Given the description of an element on the screen output the (x, y) to click on. 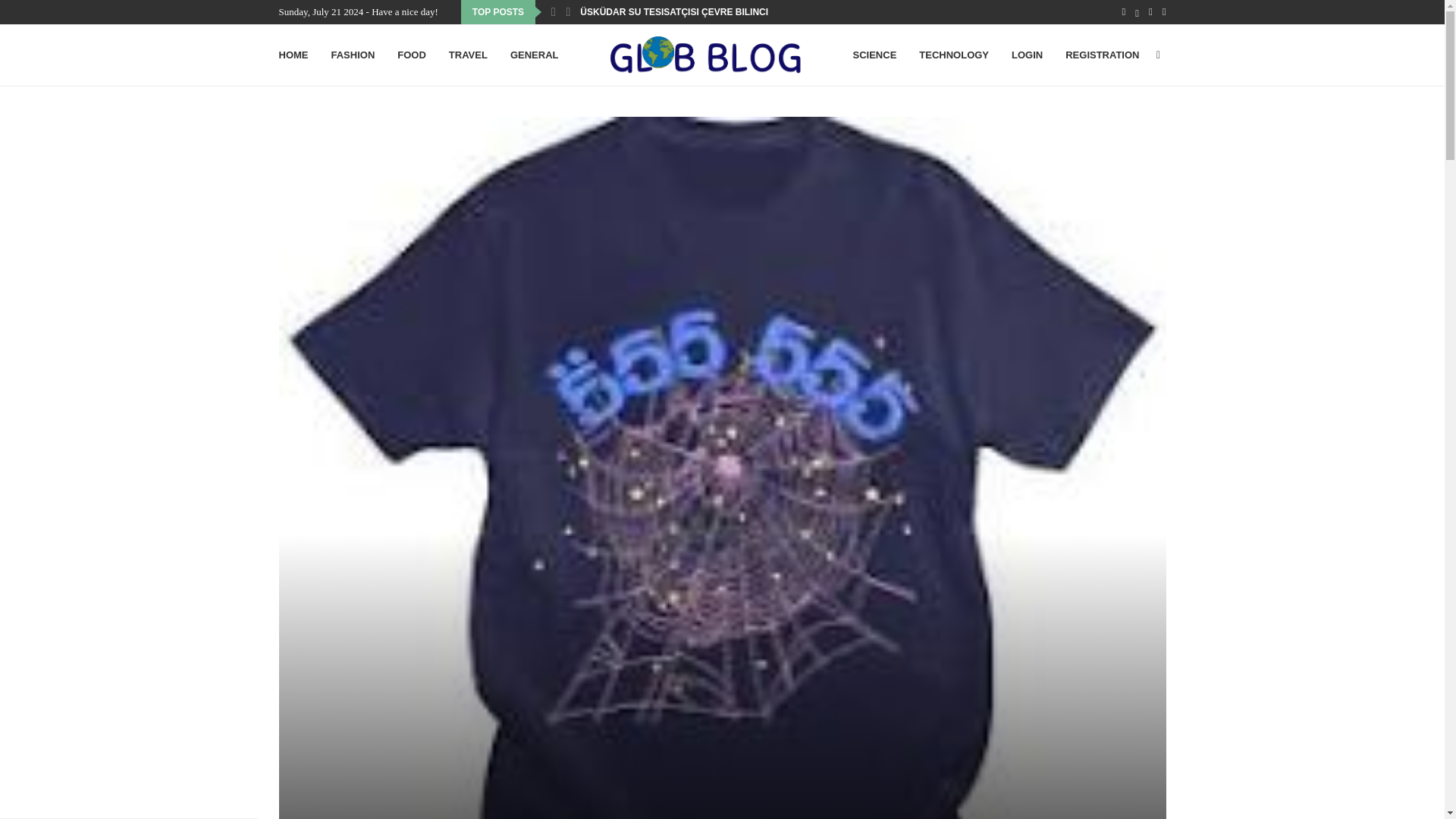
REGISTRATION (1101, 55)
TECHNOLOGY (953, 55)
